Given the description of an element on the screen output the (x, y) to click on. 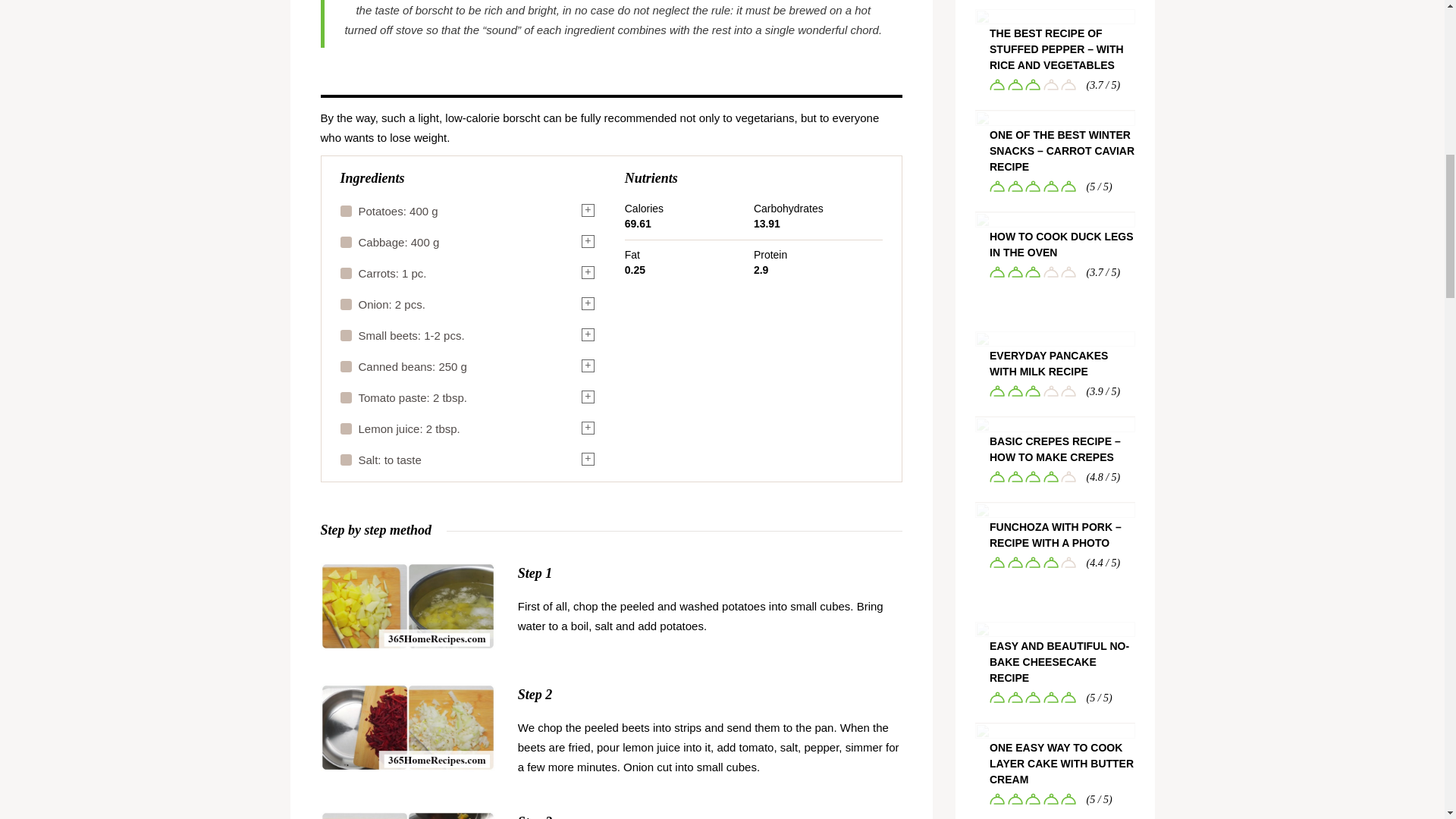
on (344, 459)
on (344, 397)
on (344, 428)
on (344, 335)
on (344, 210)
on (344, 303)
on (344, 241)
on (344, 272)
on (344, 366)
